Given the description of an element on the screen output the (x, y) to click on. 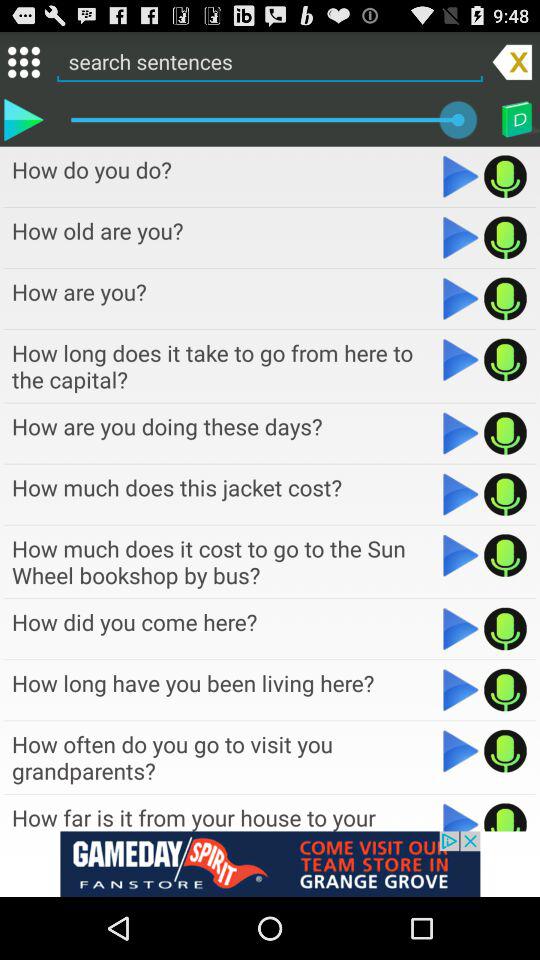
play the file (460, 237)
